Given the description of an element on the screen output the (x, y) to click on. 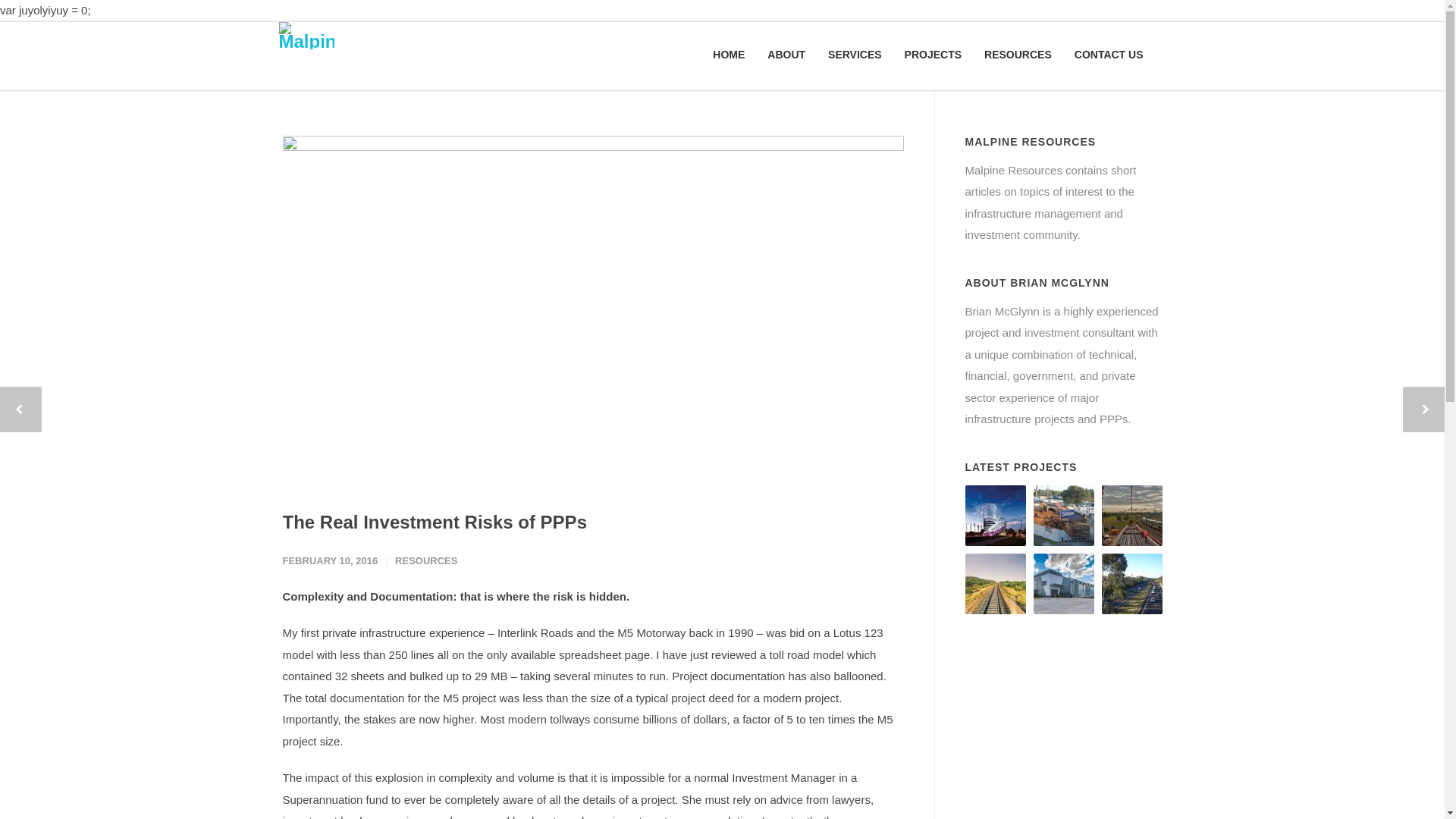
The Real Investment Risks of PPPs Element type: text (434, 521)
RESOURCES Element type: text (1017, 54)
SERVICES Element type: text (854, 54)
Governance of Projects and Transactions Element type: hover (1131, 515)
The Real Investment Risks of PPPs Element type: hover (592, 309)
Data Centre Reform Project Element type: hover (1062, 583)
RESOURCES Element type: text (426, 560)
M2 Motorway Widening Project Element type: hover (1131, 583)
Unsolicited Proposal Assessment Policy Element type: hover (994, 583)
Economic Analysis and Feasibility Studies Element type: hover (1062, 515)
Investment Analysis Projects Element type: hover (994, 515)
PROJECTS Element type: text (932, 54)
ABOUT Element type: text (786, 54)
CONTACT US Element type: text (1108, 54)
HOME Element type: text (728, 54)
